Given the description of an element on the screen output the (x, y) to click on. 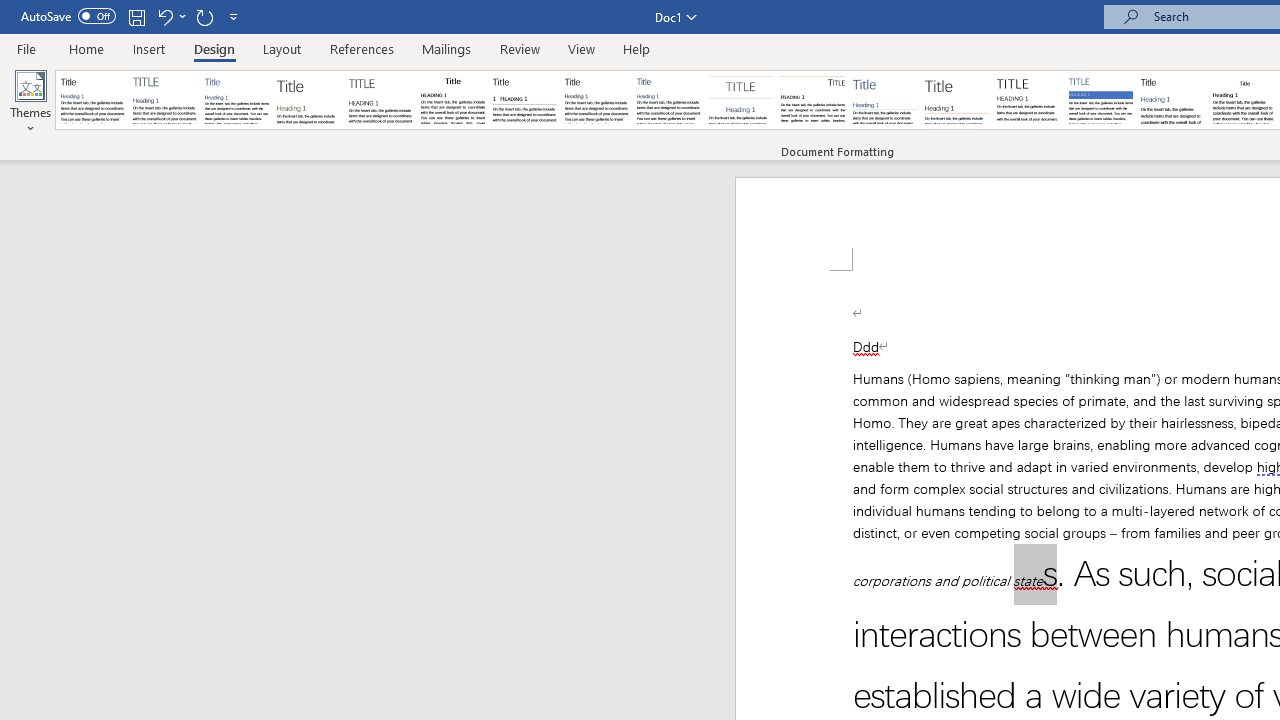
Document (93, 100)
Basic (Simple) (236, 100)
Mailings (447, 48)
Undo Apply Quick Style Set (170, 15)
Review (520, 48)
Design (214, 48)
Black & White (Word 2013) (596, 100)
Repeat Accessibility Checker (204, 15)
Shaded (1100, 100)
Quick Access Toolbar (131, 16)
Undo Apply Quick Style Set (164, 15)
